Given the description of an element on the screen output the (x, y) to click on. 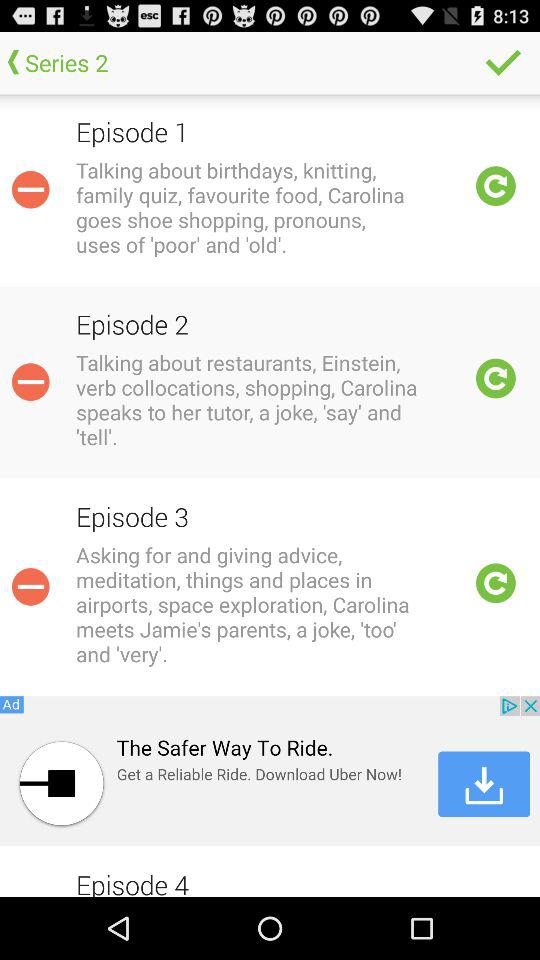
remove episode (30, 586)
